Given the description of an element on the screen output the (x, y) to click on. 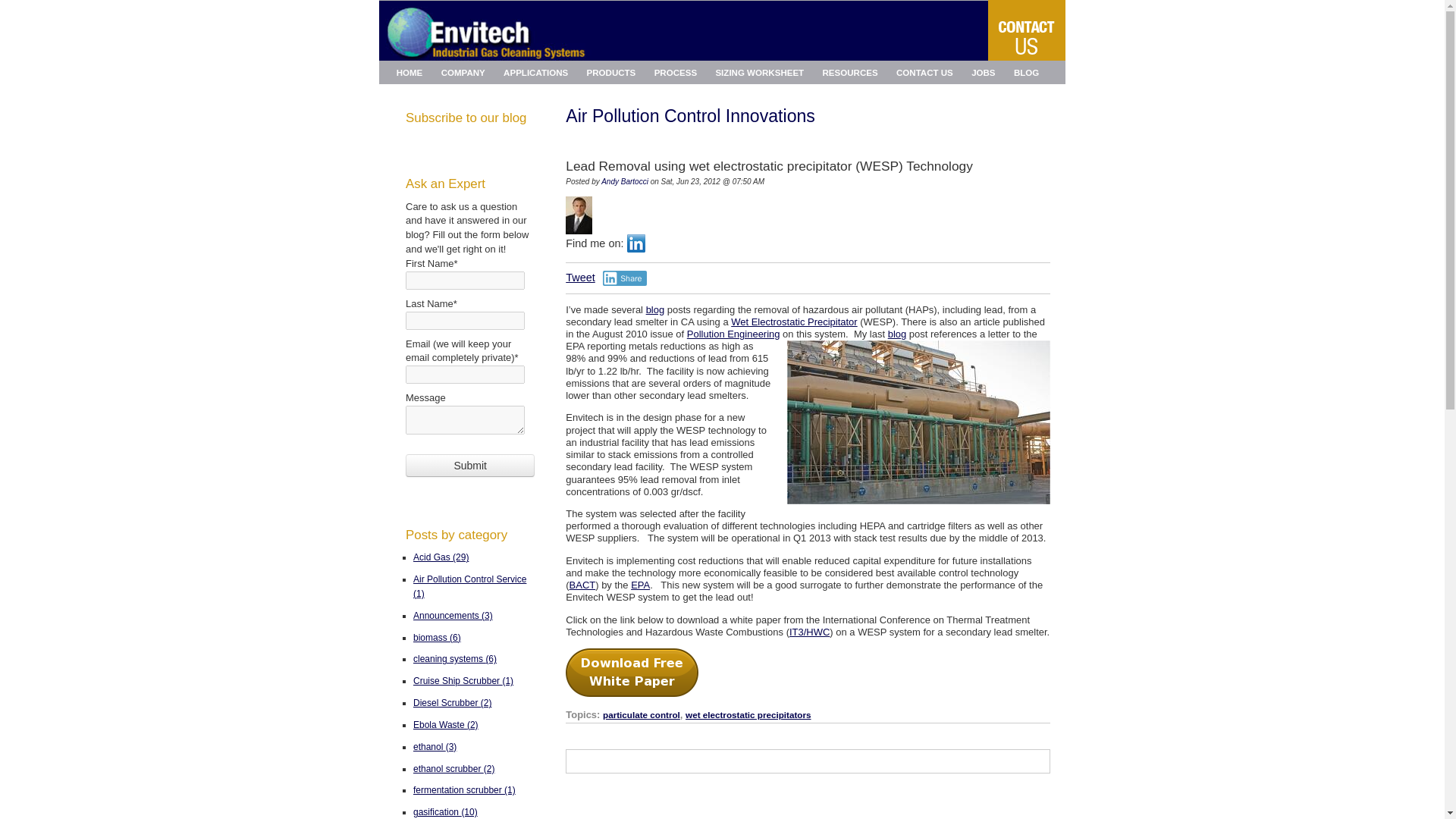
Wet Electrostatic Precipitator (793, 321)
PRODUCTS (610, 72)
Pollution Engineering (733, 333)
LinkedIn (635, 243)
wet electrostatic precipitators (747, 714)
COMPANY (462, 72)
CONTACT US (924, 72)
Share (624, 278)
EPA (639, 584)
EPA (639, 584)
